Given the description of an element on the screen output the (x, y) to click on. 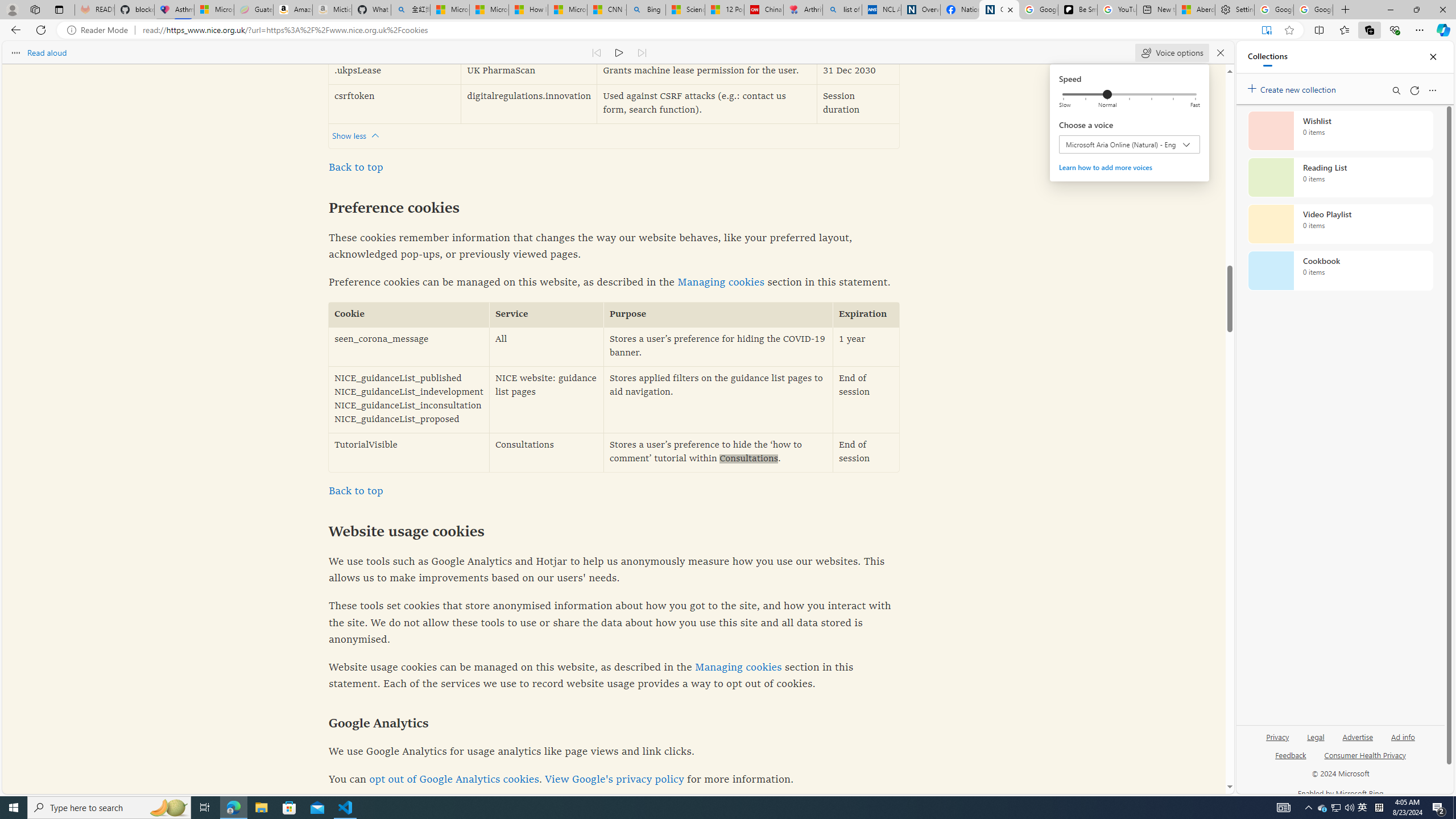
1 year (865, 346)
seen_corona_message (408, 346)
End of session (865, 452)
Class: __reading_mode_collapse_button_chevron_up (375, 136)
Reading List collection, 0 items (1339, 177)
View Google's privacy policy (614, 779)
Video Playlist collection, 0 items (1339, 223)
App bar (728, 29)
Create new collection (1293, 87)
Show less (357, 135)
